Given the description of an element on the screen output the (x, y) to click on. 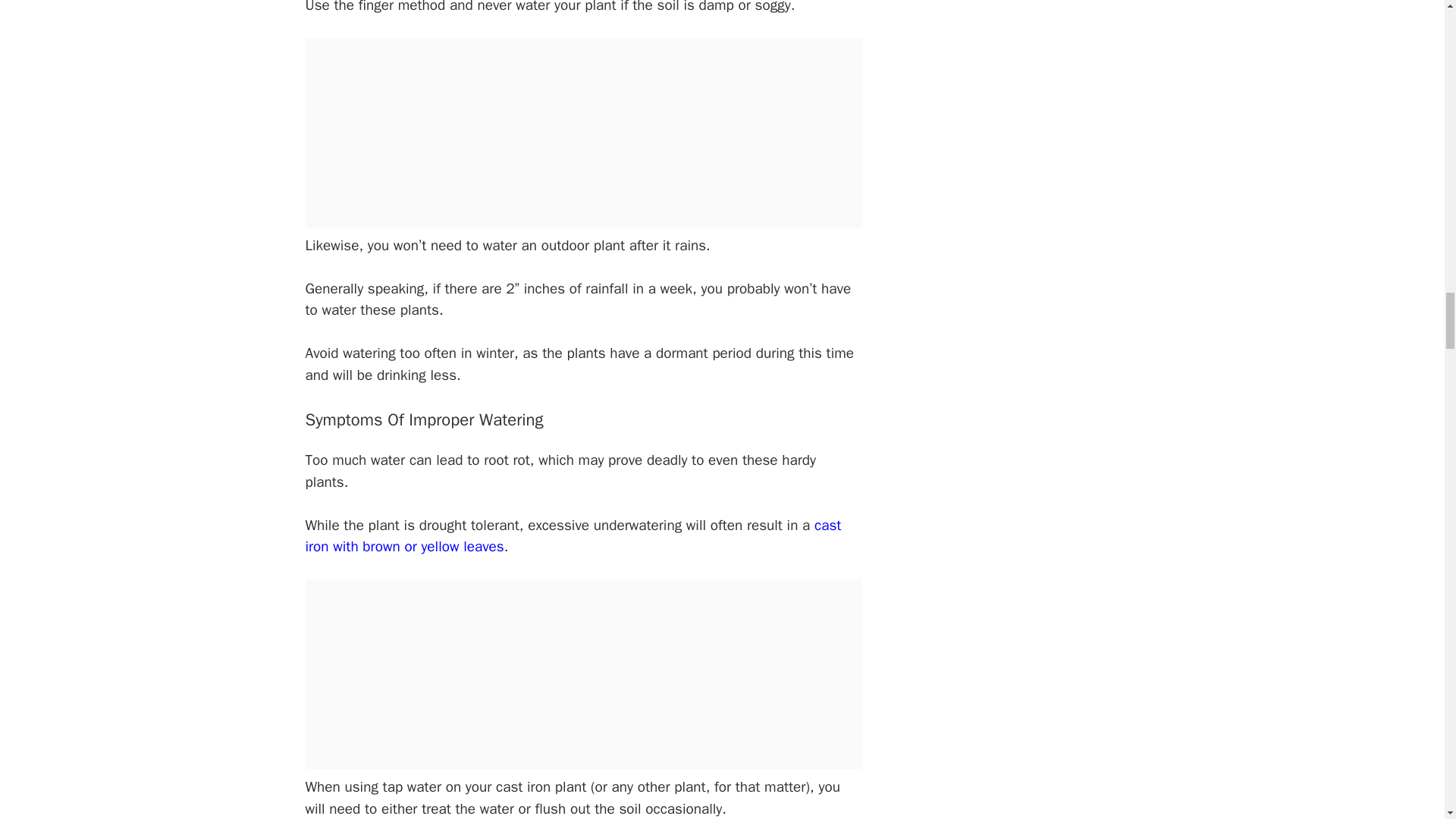
cast iron with brown or yellow leaves (572, 536)
